Given the description of an element on the screen output the (x, y) to click on. 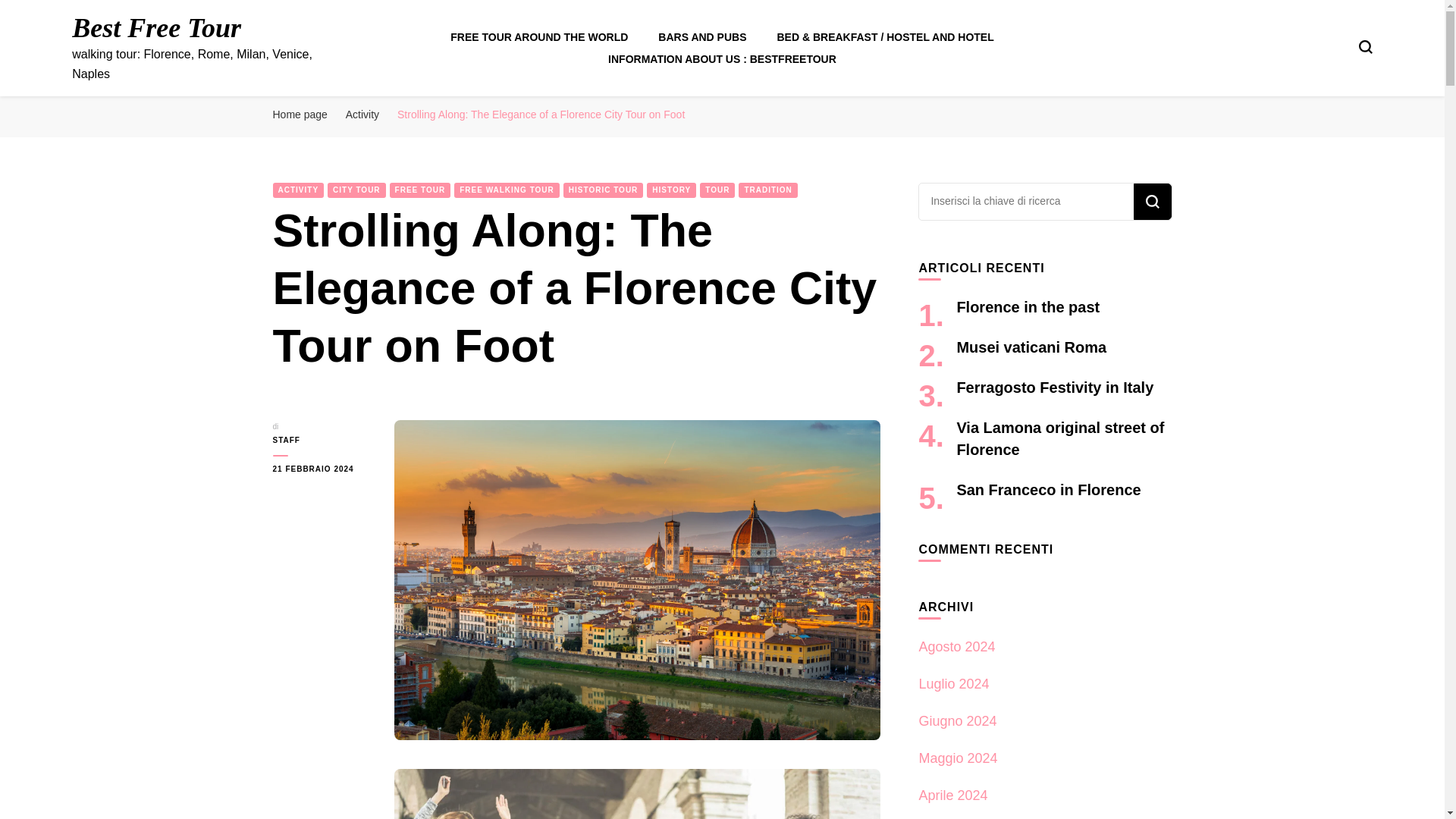
ACTIVITY (298, 190)
INFORMATION ABOUT US : BESTFREETOUR (721, 59)
HISTORIC TOUR (603, 190)
21 FEBBRAIO 2024 (322, 468)
FREE TOUR (420, 190)
HISTORY (670, 190)
BARS AND PUBS (701, 37)
STAFF (322, 440)
Activity (362, 114)
